Given the description of an element on the screen output the (x, y) to click on. 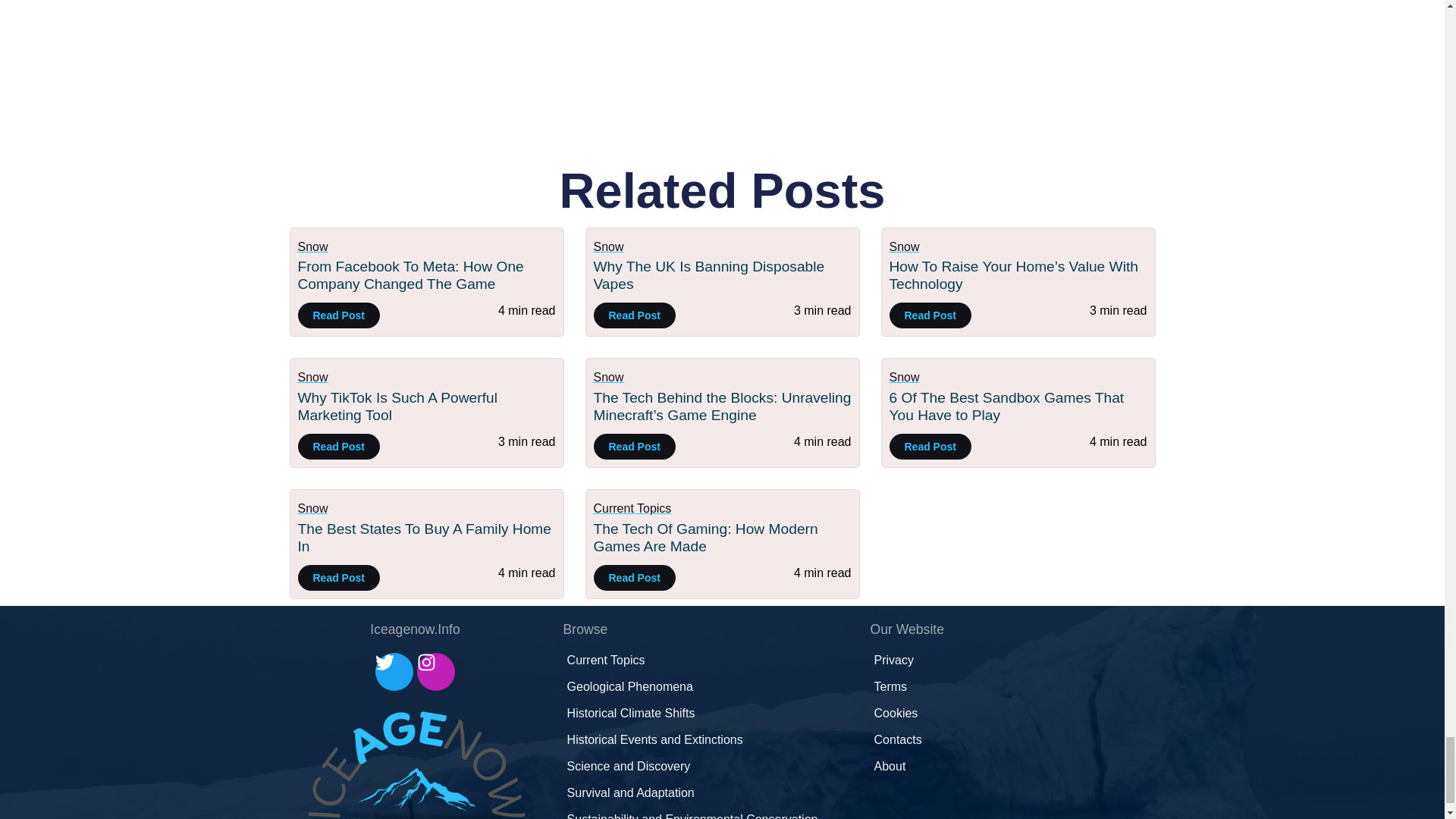
From Facebook To Meta: How One Company Changed The Game (409, 274)
Why The UK Is Banning Disposable Vapes (708, 274)
Snow (312, 246)
Snow (312, 377)
Snow (607, 377)
Read Post (633, 315)
Snow (903, 246)
Snow (607, 246)
Why TikTok Is Such A Powerful Marketing Tool (396, 406)
Read Post (929, 315)
Read Post (337, 315)
Read Post (337, 446)
